Given the description of an element on the screen output the (x, y) to click on. 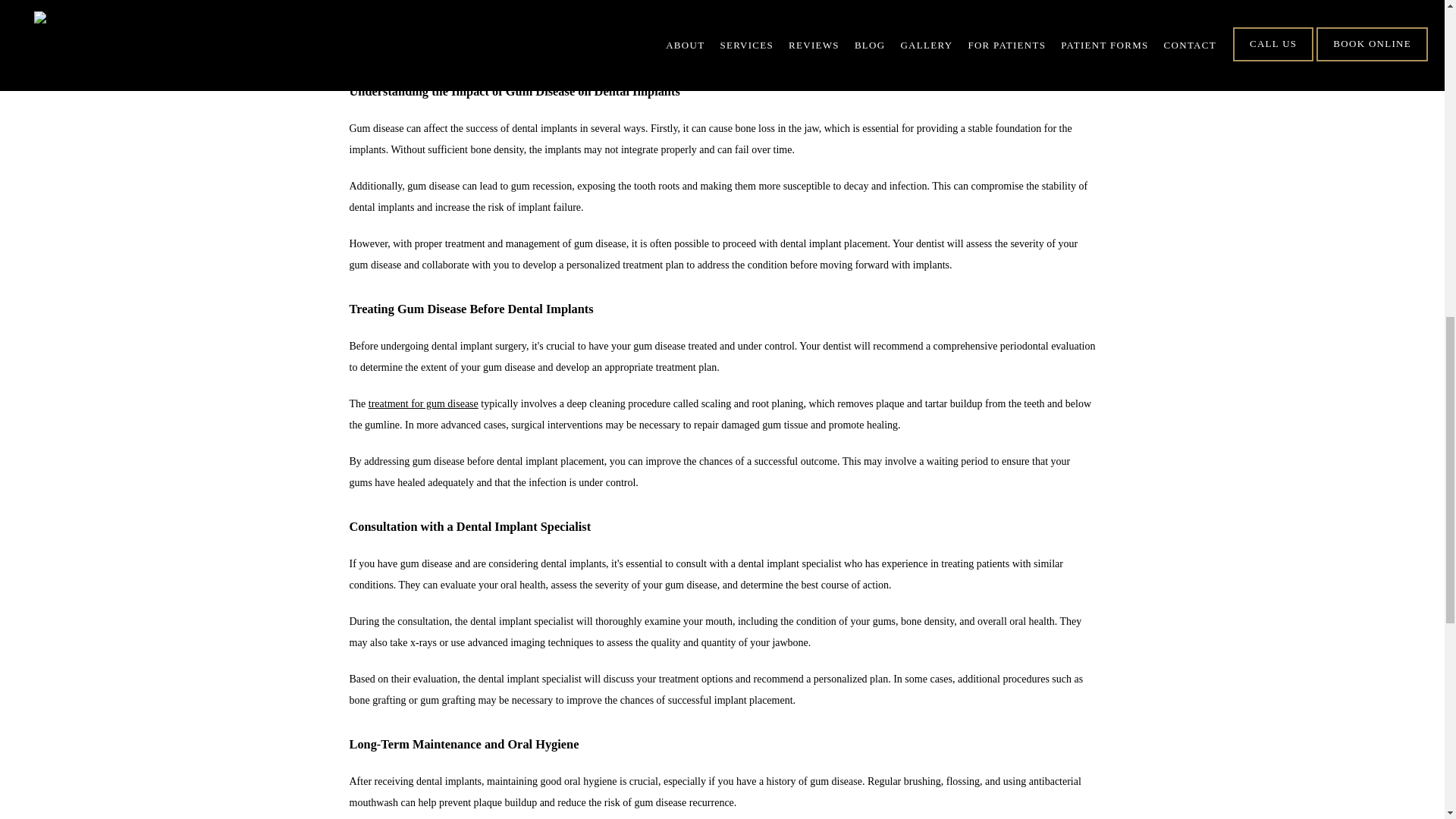
dental implants in Chevy Chase (507, 5)
treatment for gum disease (423, 403)
